Given the description of an element on the screen output the (x, y) to click on. 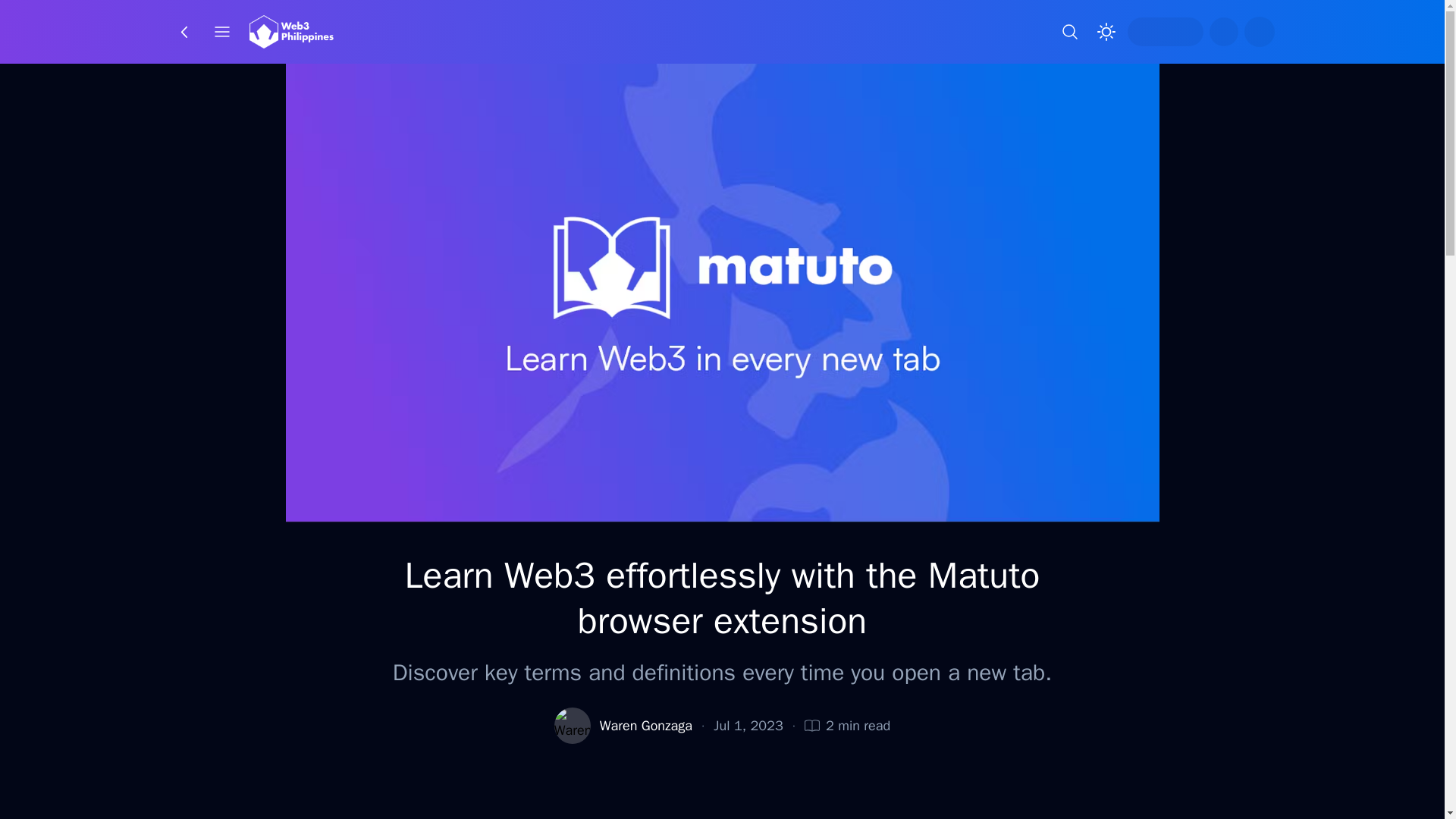
Waren Gonzaga (646, 725)
Jul 1, 2023 (748, 725)
